Given the description of an element on the screen output the (x, y) to click on. 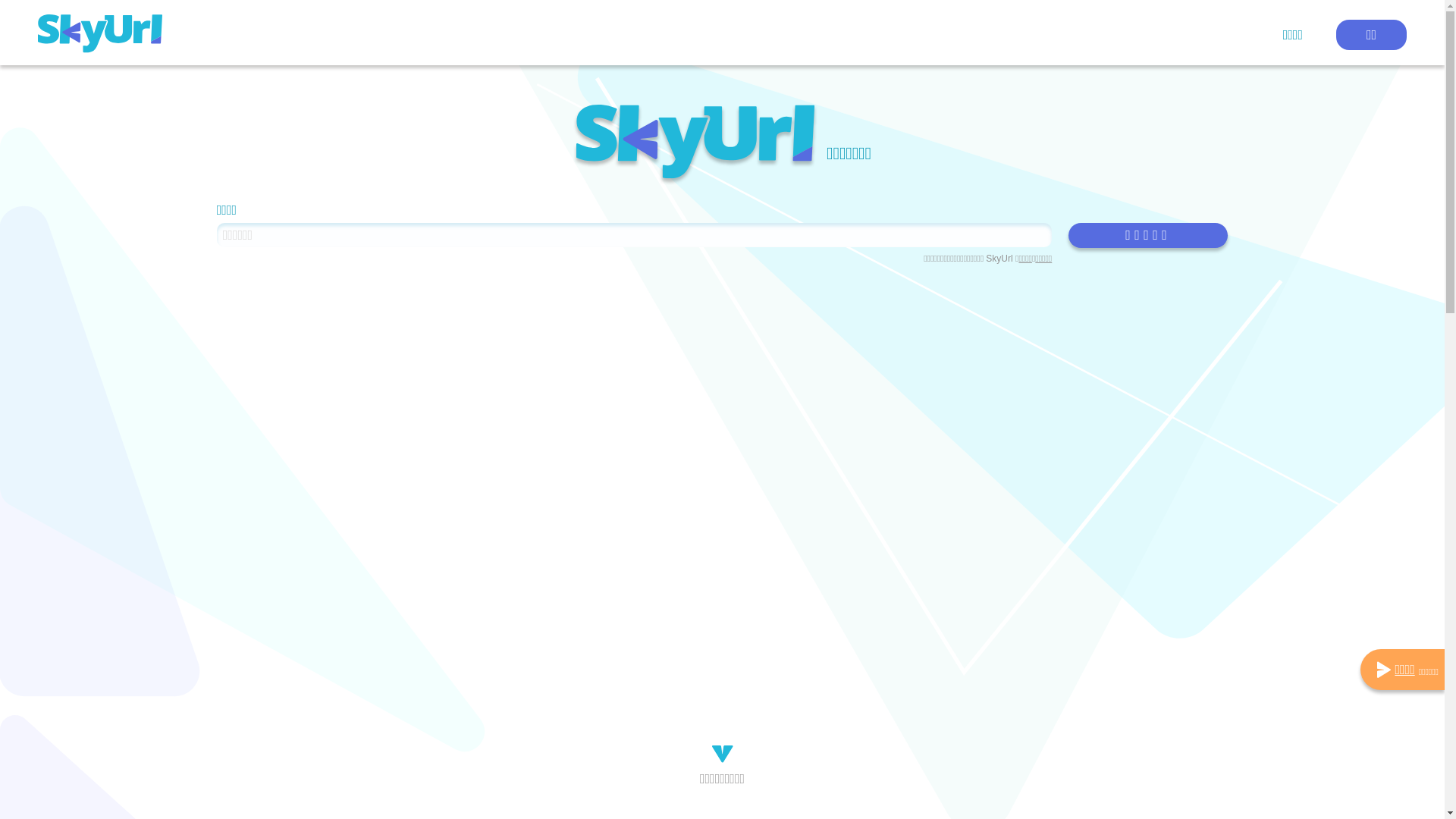
SkyUrl Element type: hover (695, 144)
